Given the description of an element on the screen output the (x, y) to click on. 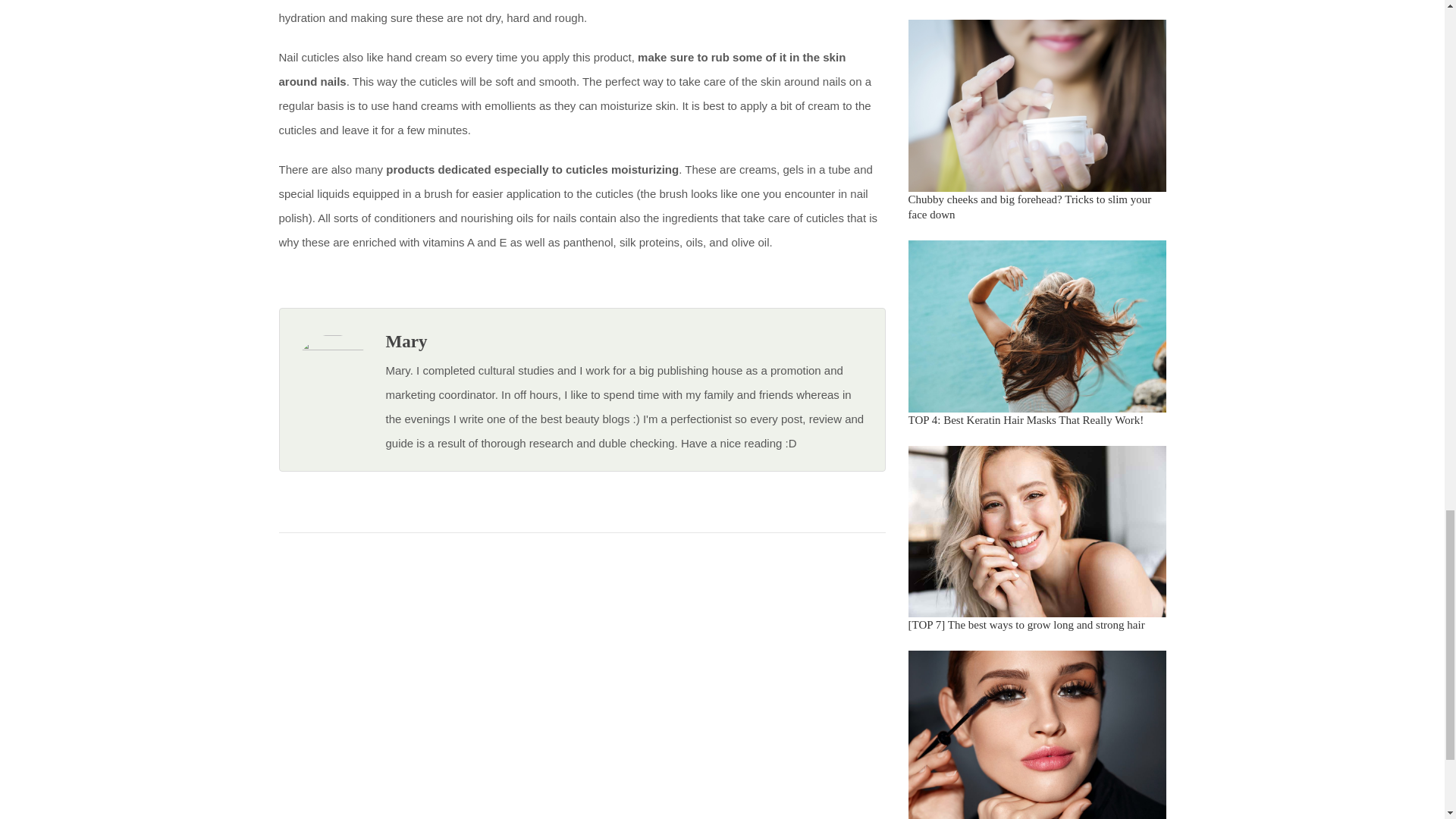
Mary (405, 341)
TOP 4: Best Keratin Hair Masks That Really Work! (1026, 419)
